Given the description of an element on the screen output the (x, y) to click on. 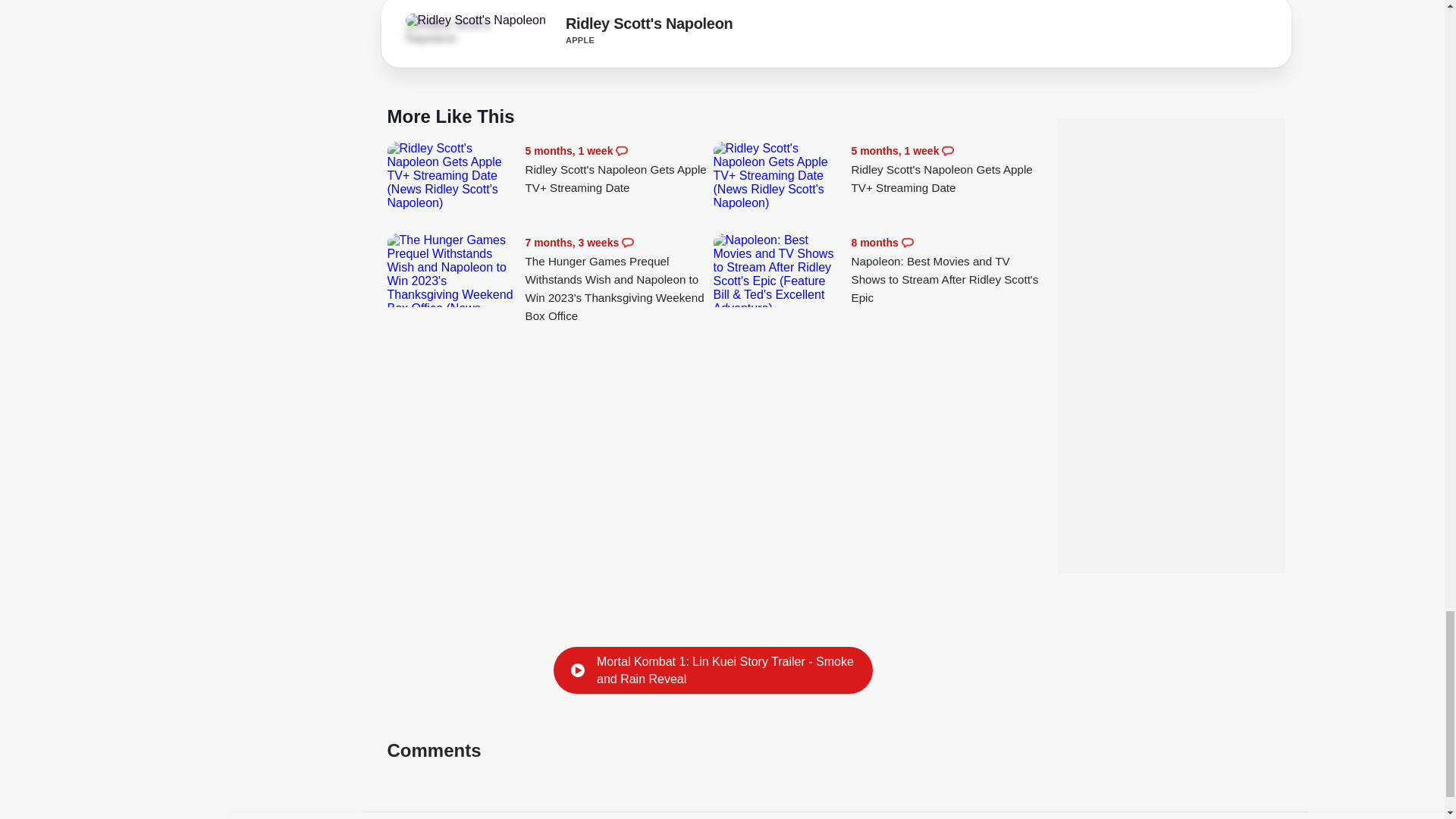
Comments (621, 150)
Ridley Scott's Napoleon (649, 26)
Comments (947, 150)
Comments (907, 242)
Comments (627, 242)
Ridley Scott's Napoleon (474, 20)
Ridley Scott's Napoleon (448, 31)
